Given the description of an element on the screen output the (x, y) to click on. 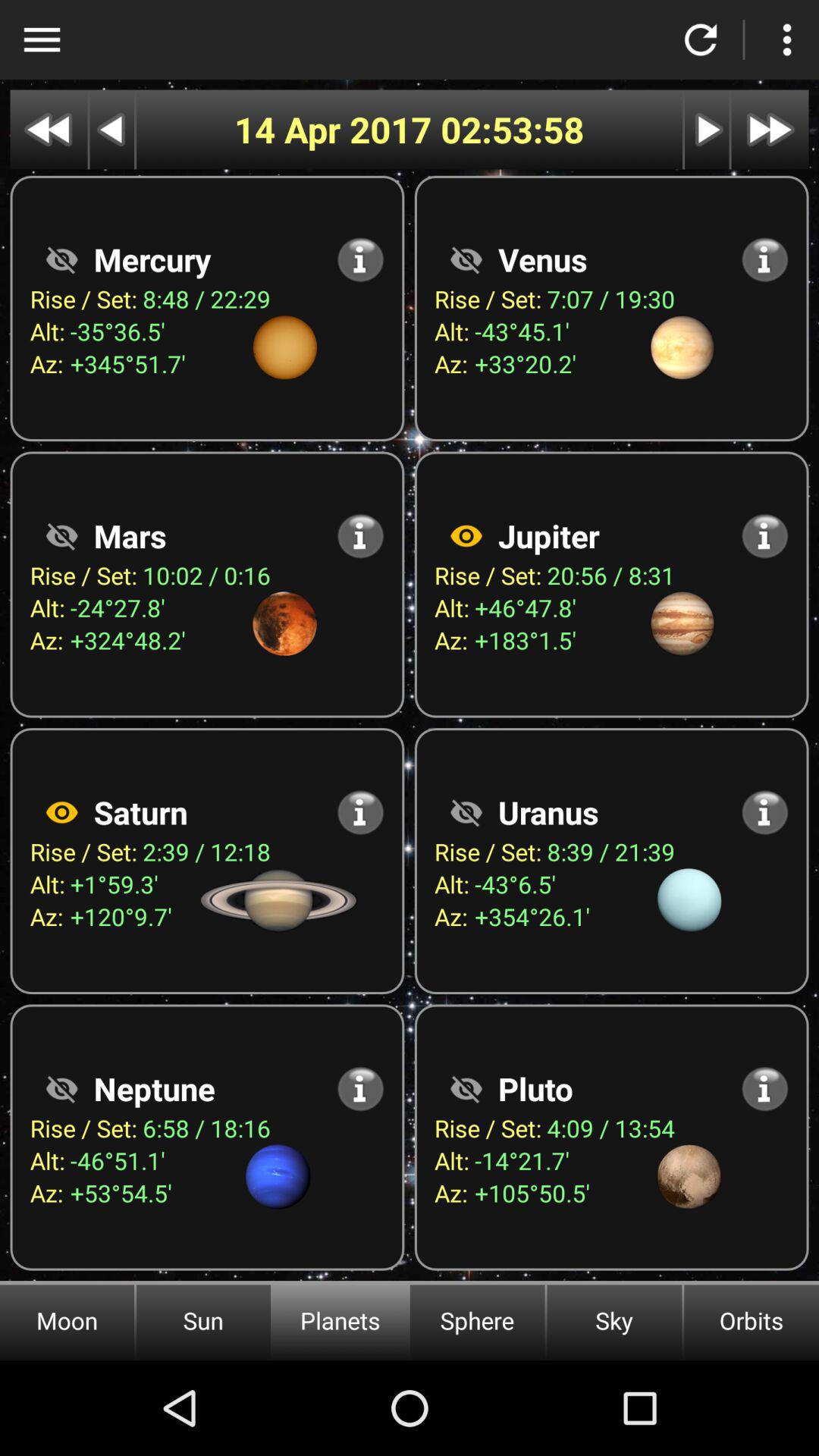
include this planet (466, 536)
